Given the description of an element on the screen output the (x, y) to click on. 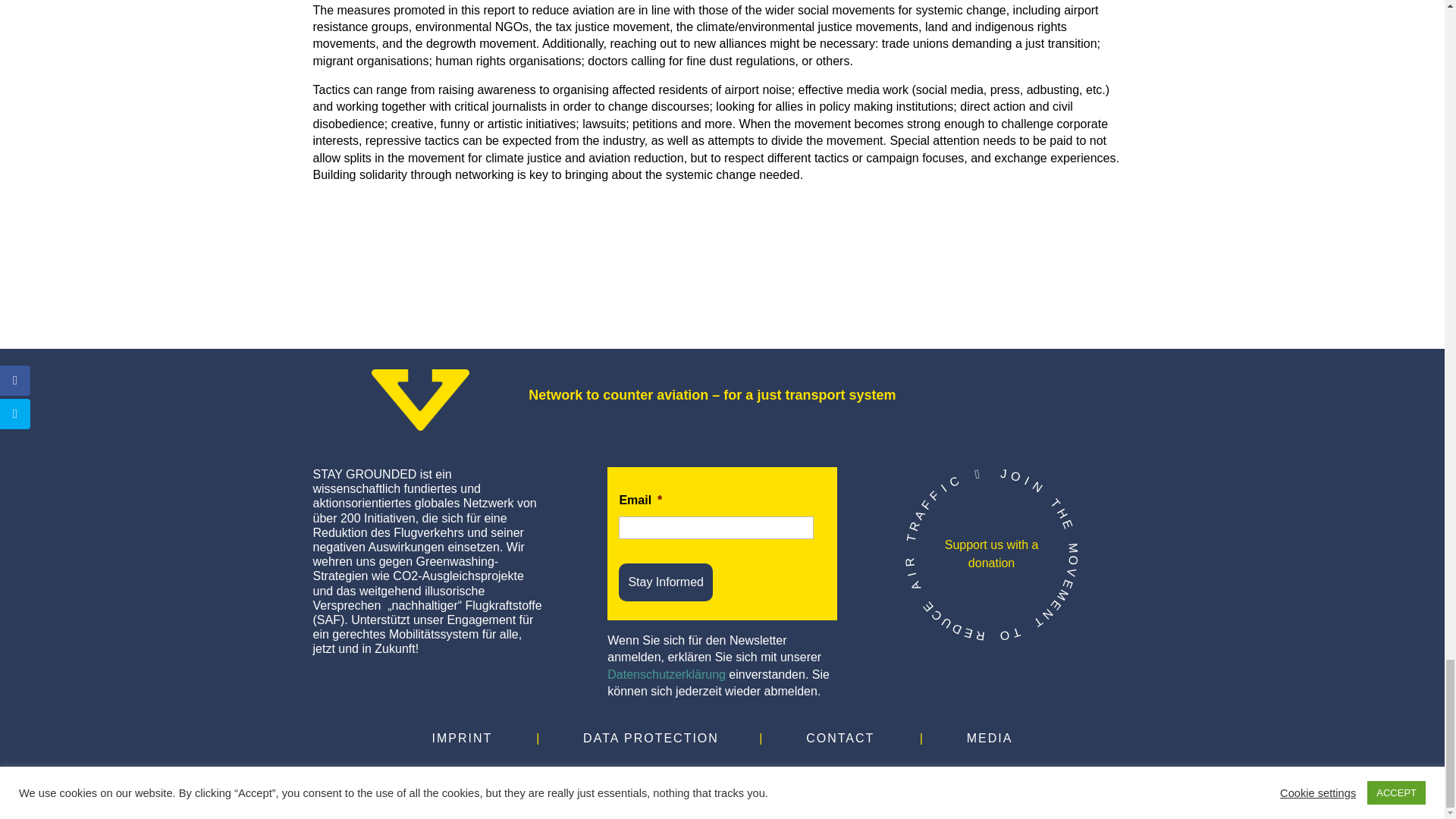
Folge auf X (660, 780)
Stay Informed (665, 582)
Privacy policy (666, 674)
Folge auf Flickr (812, 780)
Folge auf Instagram (691, 780)
Folge auf Facebook (630, 780)
Folge auf dbdb-mastodon (751, 780)
Folge auf Youtube (782, 780)
Folge auf dbdb-telegram (721, 780)
